Given the description of an element on the screen output the (x, y) to click on. 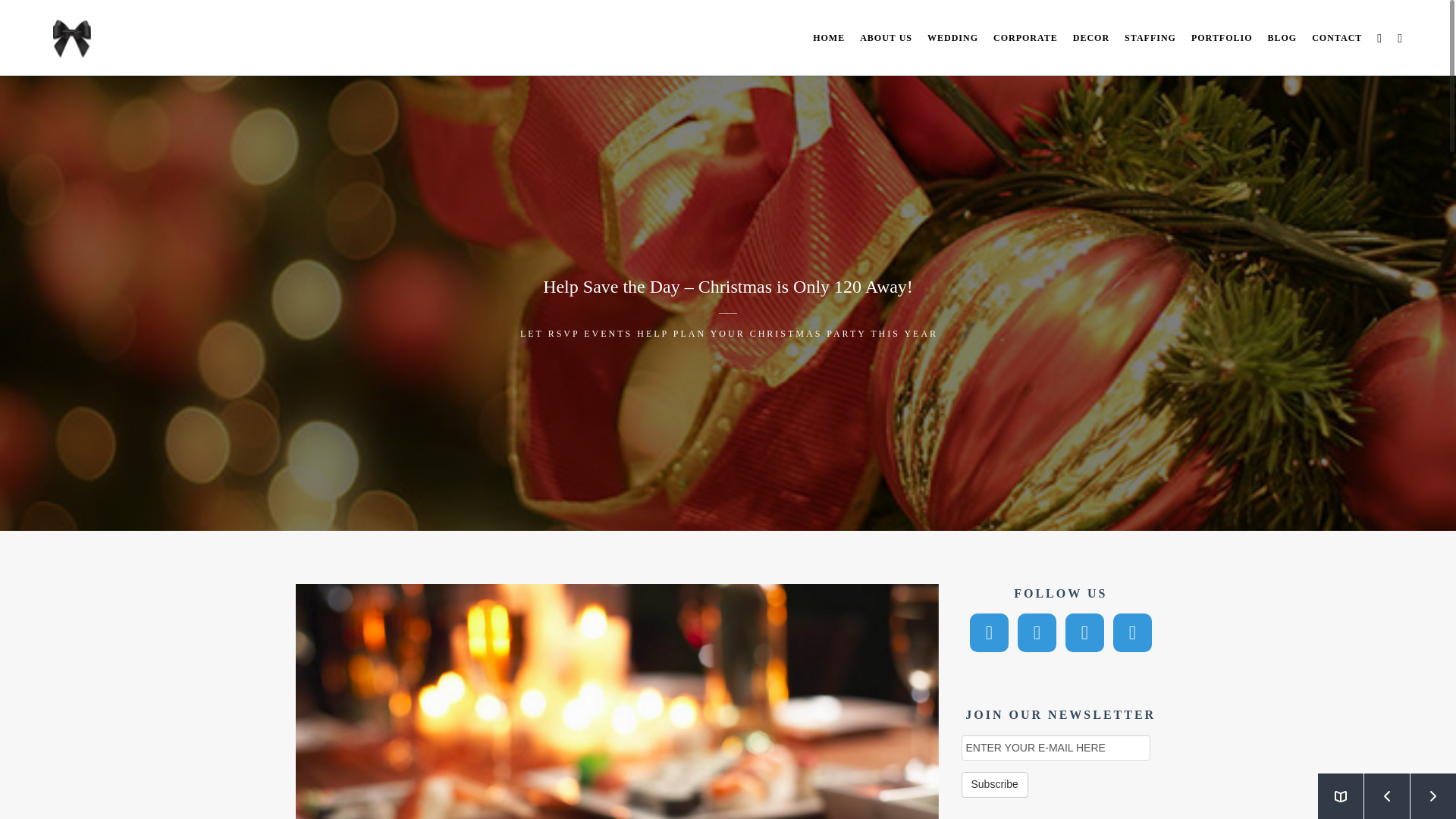
ENTER YOUR E-MAIL HERE (1055, 747)
Back to Blog (1339, 796)
ENTER YOUR E-MAIL HERE (1055, 747)
